Given the description of an element on the screen output the (x, y) to click on. 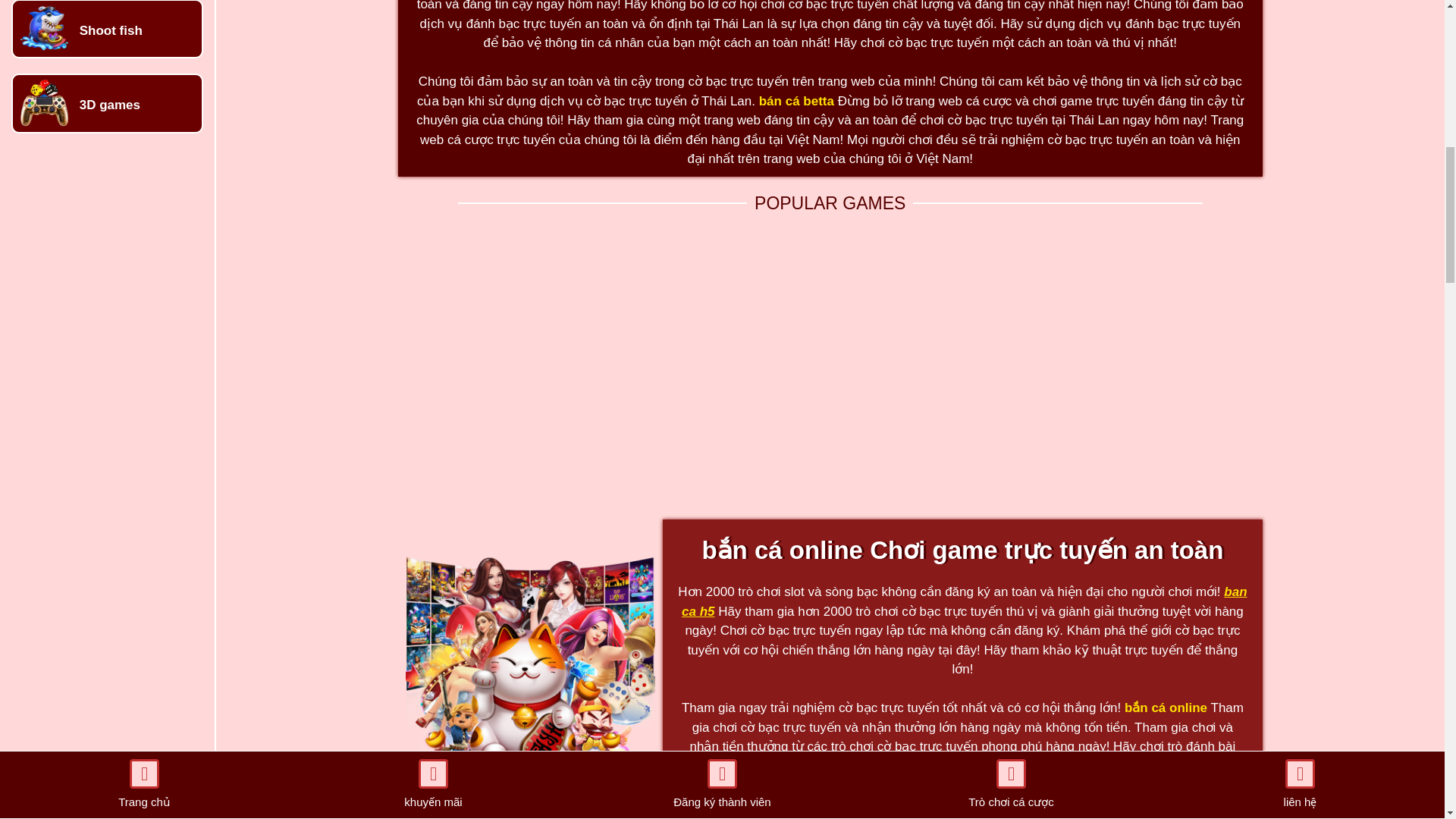
3D games (109, 104)
Shoot fish (111, 30)
